Given the description of an element on the screen output the (x, y) to click on. 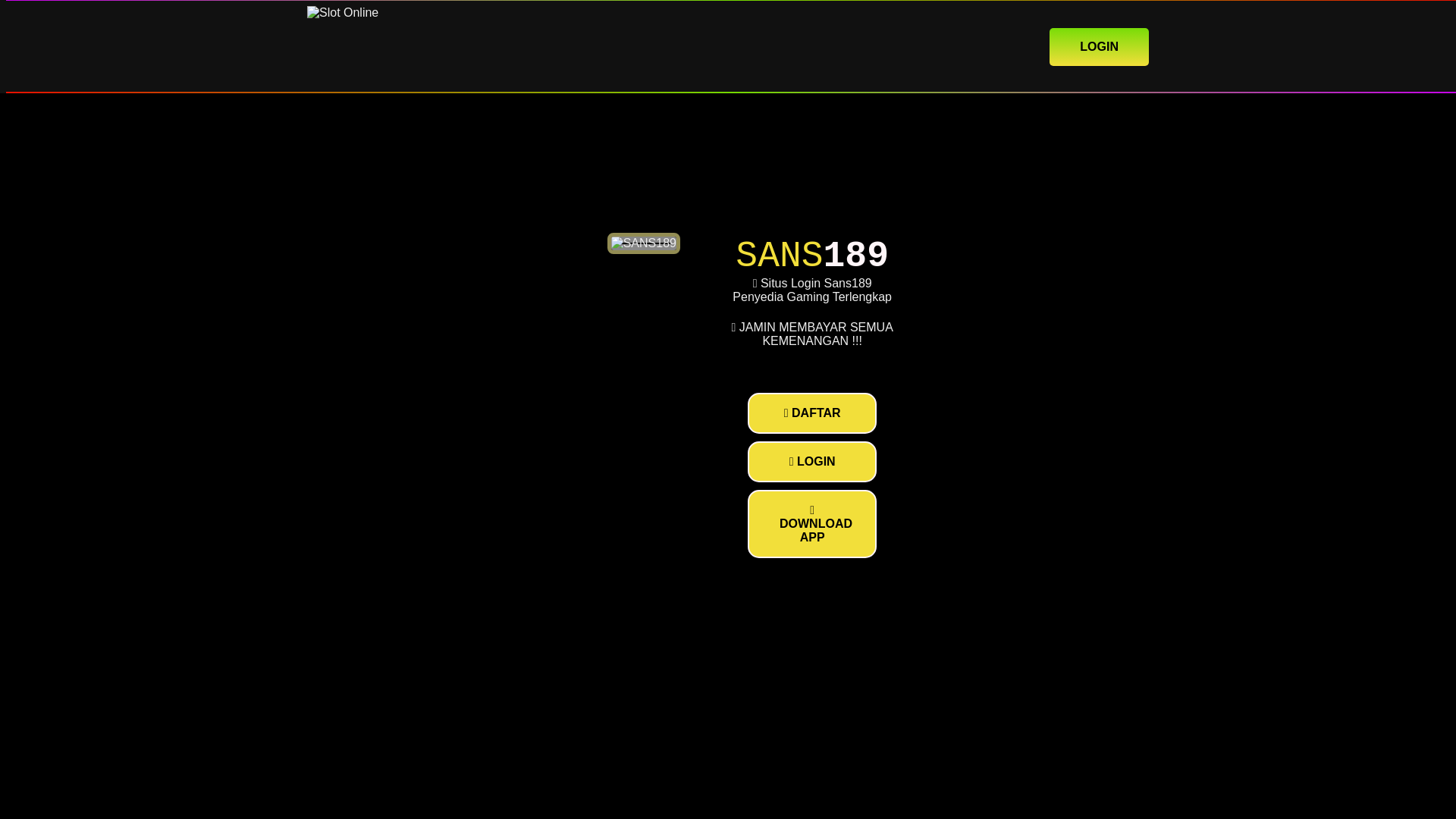
DOWNLOAD APP (812, 523)
LOGIN (1098, 46)
DAFTAR (812, 413)
LOGIN (812, 461)
